Given the description of an element on the screen output the (x, y) to click on. 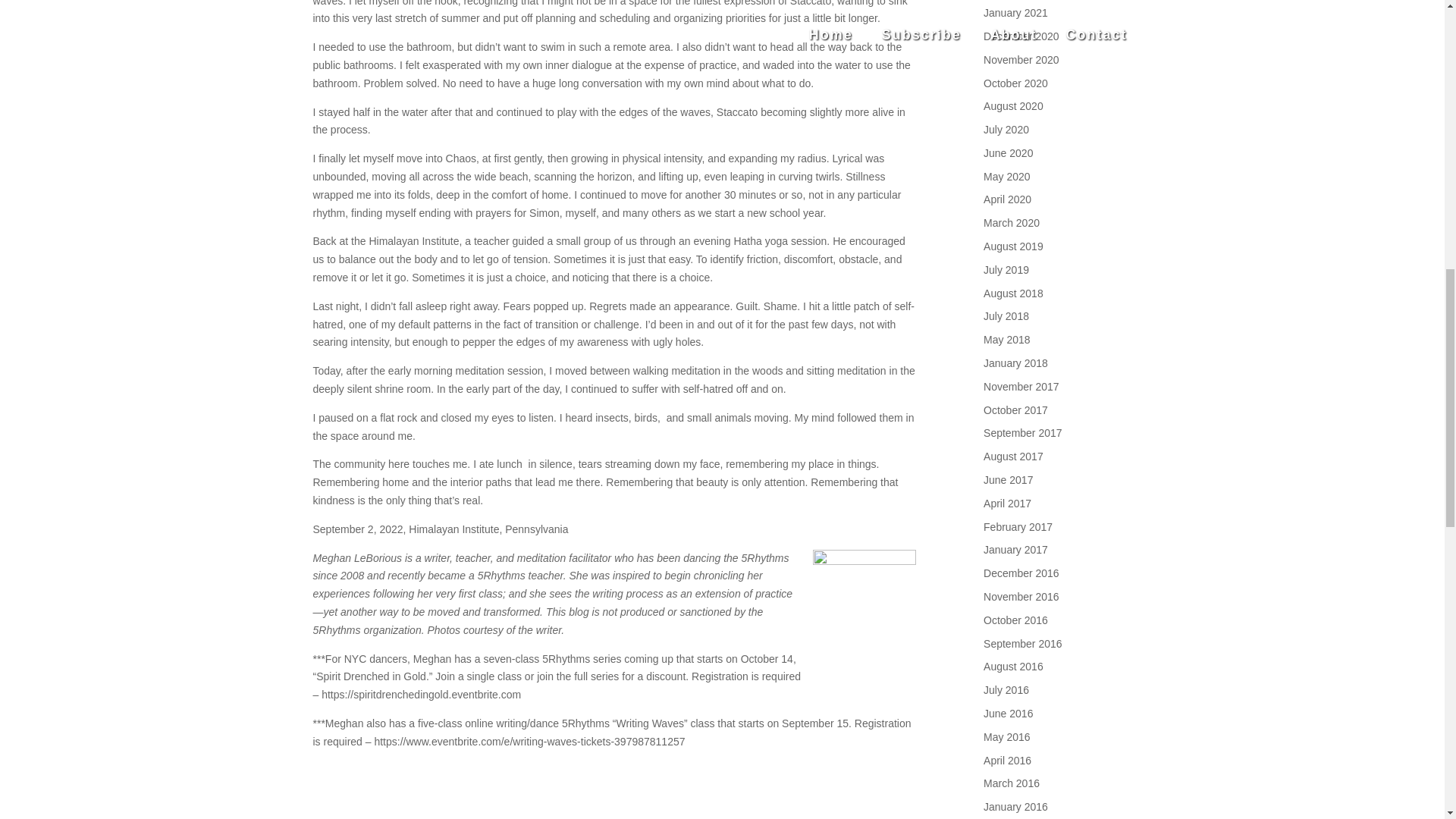
January 2021 (1016, 12)
November 2020 (1021, 60)
December 2020 (1021, 36)
October 2020 (1016, 82)
